Given the description of an element on the screen output the (x, y) to click on. 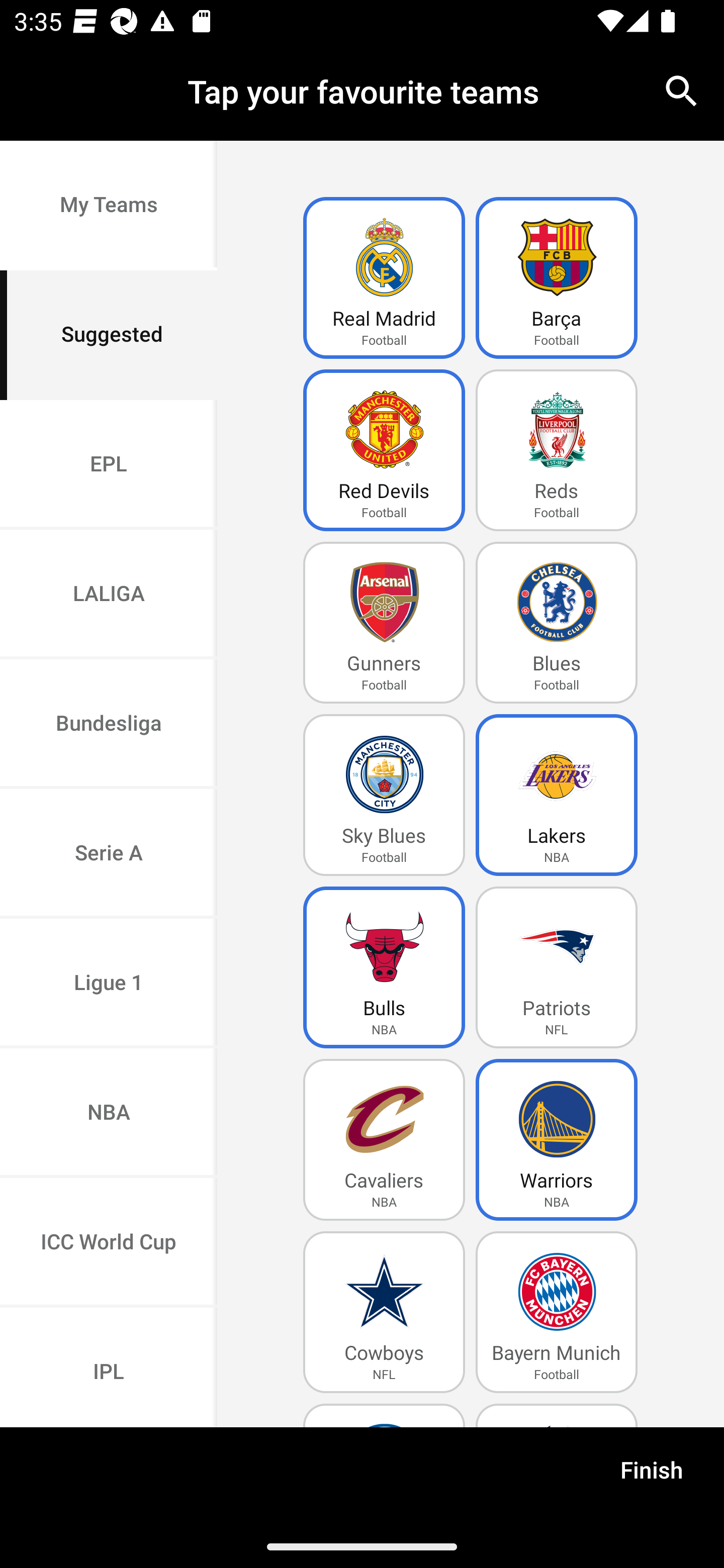
search (681, 90)
My Teams (108, 206)
Real Madrid Real MadridSelected Football (383, 278)
Barça BarçaSelected Football (556, 278)
Suggested (108, 334)
Red Devils Red DevilsSelected Football (383, 450)
Reds Reds Football (556, 450)
EPL (108, 464)
LALIGA (108, 594)
Gunners Gunners Football (383, 623)
Blues Blues Football (556, 623)
Bundesliga (108, 725)
Sky Blues Sky Blues Football (383, 794)
Lakers LakersSelected NBA (556, 794)
Serie A (108, 853)
Bulls BullsSelected NBA (383, 966)
Patriots Patriots NFL (556, 966)
Ligue 1 (108, 983)
NBA (108, 1113)
Cavaliers Cavaliers NBA (383, 1139)
Warriors WarriorsSelected NBA (556, 1139)
ICC World Cup (108, 1242)
Cowboys Cowboys NFL (383, 1311)
Bayern Munich Bayern Munich Football (556, 1311)
IPL (108, 1366)
Finish Finish and Close (651, 1475)
